Given the description of an element on the screen output the (x, y) to click on. 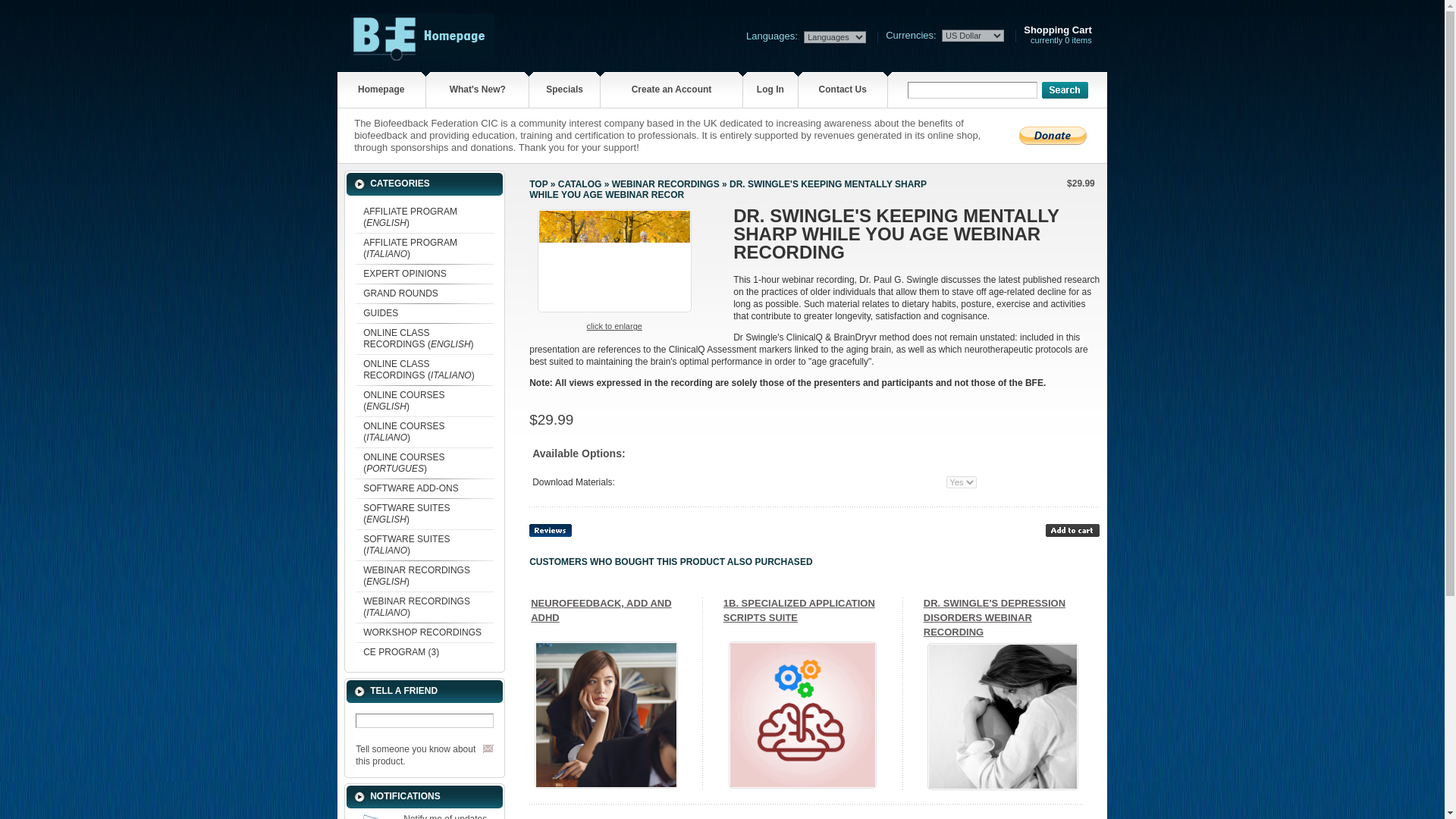
TOP (538, 184)
 Tell A Friend  (488, 748)
 Add to Shopping Cart  (1072, 530)
 NEUROFEEDBACK, ADD AND ADHD  (606, 714)
GUIDES (424, 312)
Return to main BFE website (422, 56)
 Reviews  (550, 530)
 1B. SPECIALIZED APPLICATION SCRIPTS SUITE  (802, 714)
WORKSHOP RECORDINGS (424, 632)
SOFTWARE ADD-ONS (424, 487)
CATALOG (579, 184)
EXPERT OPINIONS (424, 273)
WEBINAR RECORDINGS (665, 184)
